Given the description of an element on the screen output the (x, y) to click on. 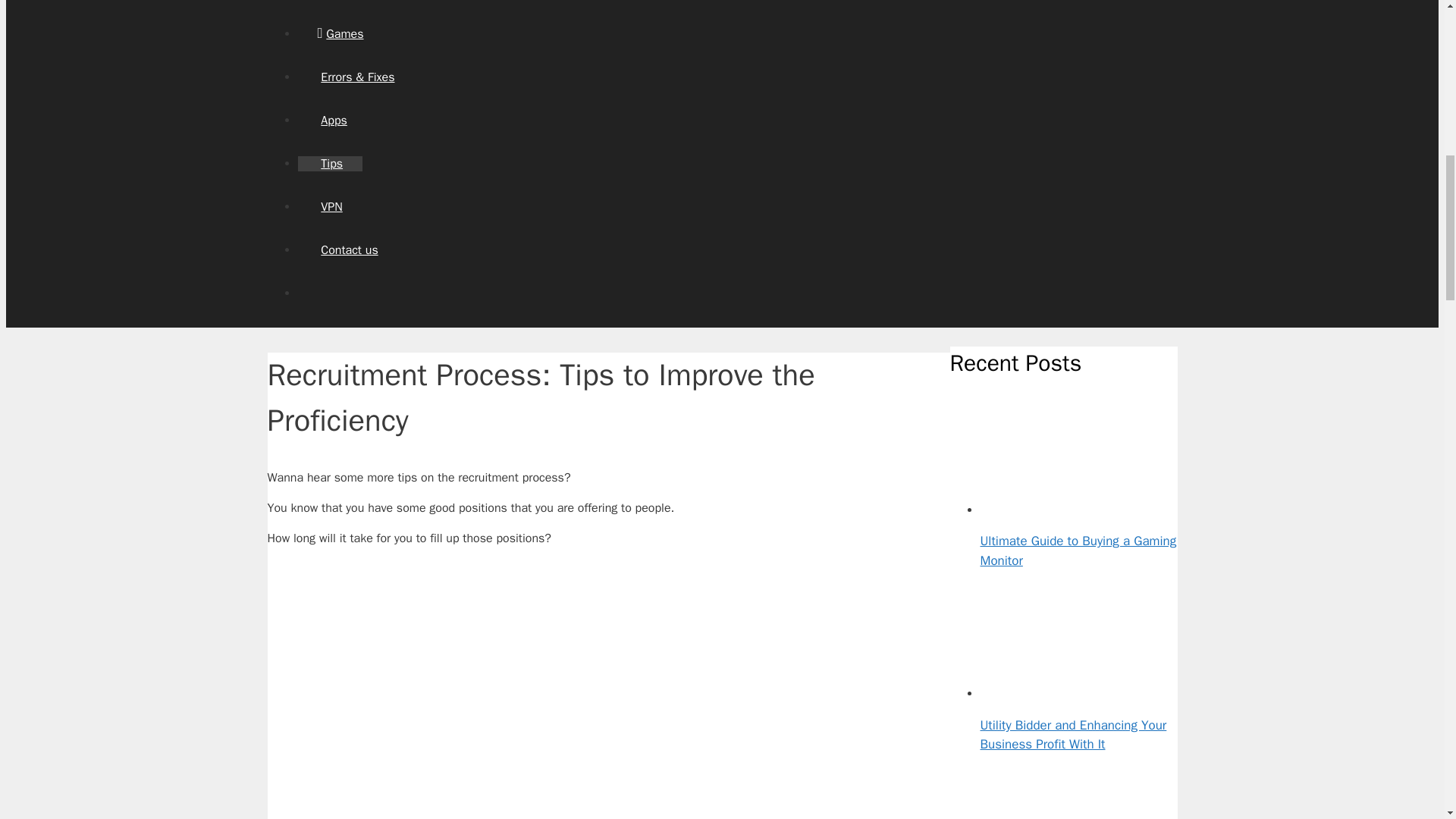
Ultimate Guide to Buying a Gaming Monitor (1036, 508)
Tips (329, 163)
VPN (329, 206)
Ultimate Guide to Buying a Gaming Monitor (1077, 550)
Apps (331, 120)
Utility Bidder and Enhancing Your Business Profit With It (1036, 692)
Utility Bidder and Enhancing Your Business Profit With It (1072, 734)
Contact us (347, 249)
Games (339, 33)
